Given the description of an element on the screen output the (x, y) to click on. 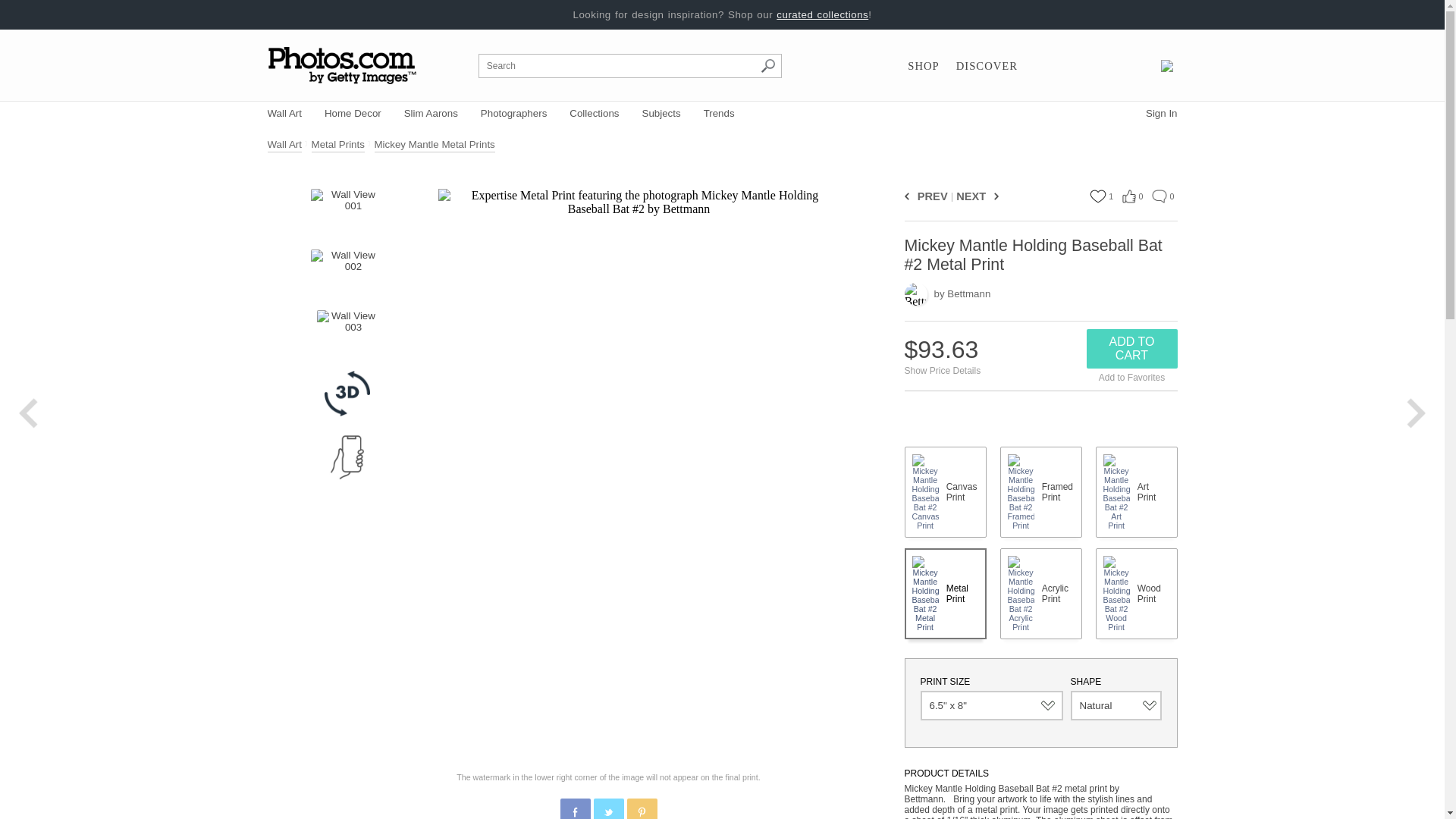
Share Product on Twitter (607, 808)
SHOP (922, 66)
Launch Mobile App (346, 456)
Pinterest (642, 811)
Wall View 003 (347, 332)
curated collections (821, 14)
3D View (346, 393)
Photos.com - Buy Art Online (342, 65)
Search (767, 65)
Wall View 001 (347, 211)
